Given the description of an element on the screen output the (x, y) to click on. 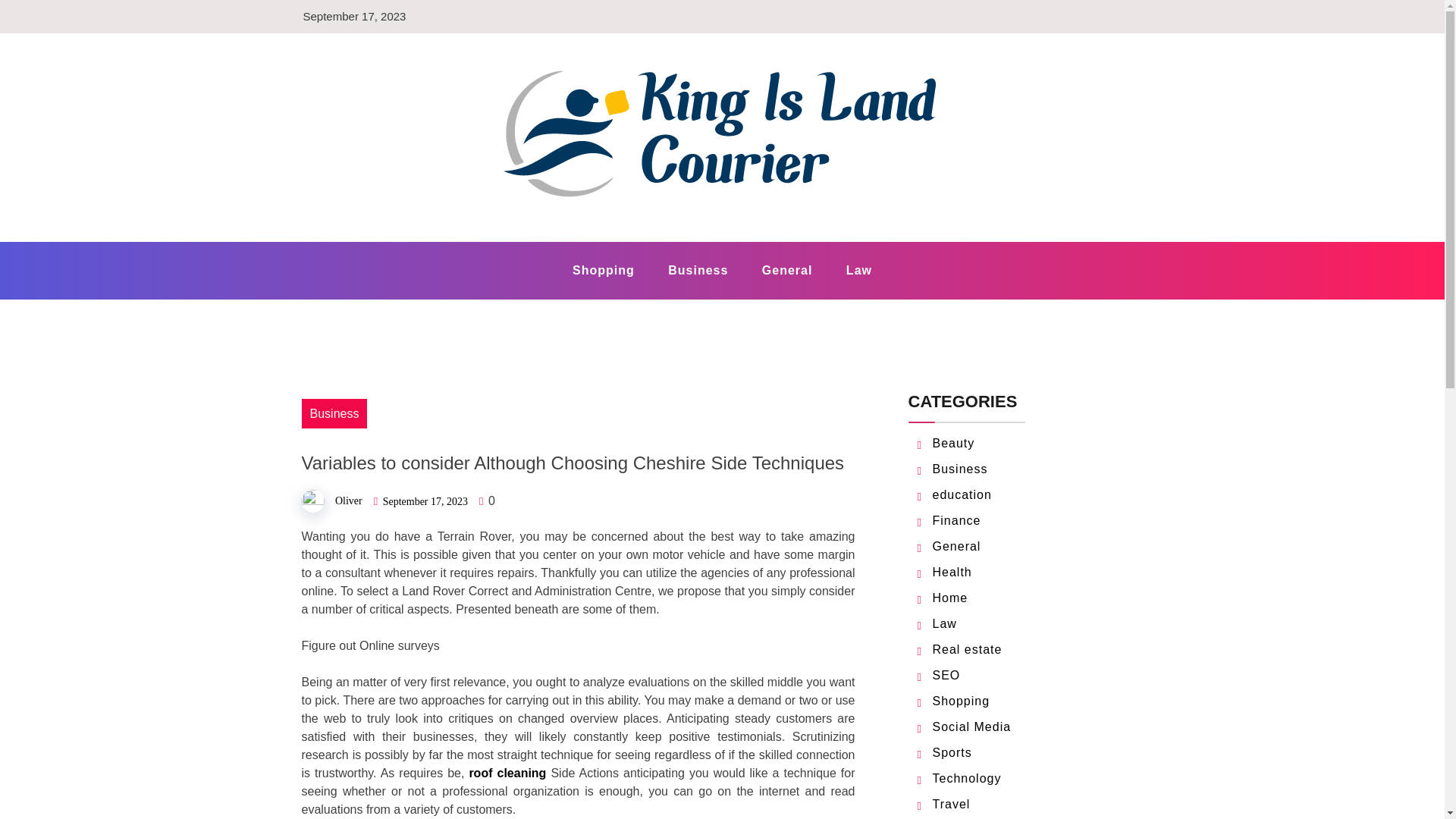
King Is Land Courier (468, 240)
Technology (967, 778)
Law (858, 270)
General (787, 270)
September 17, 2023 (424, 501)
roof cleaning (507, 772)
General (957, 545)
Real estate (968, 649)
SEO (946, 675)
Home (950, 597)
Business (697, 270)
Beauty (954, 442)
Oliver (348, 500)
education (962, 494)
Health (952, 571)
